Given the description of an element on the screen output the (x, y) to click on. 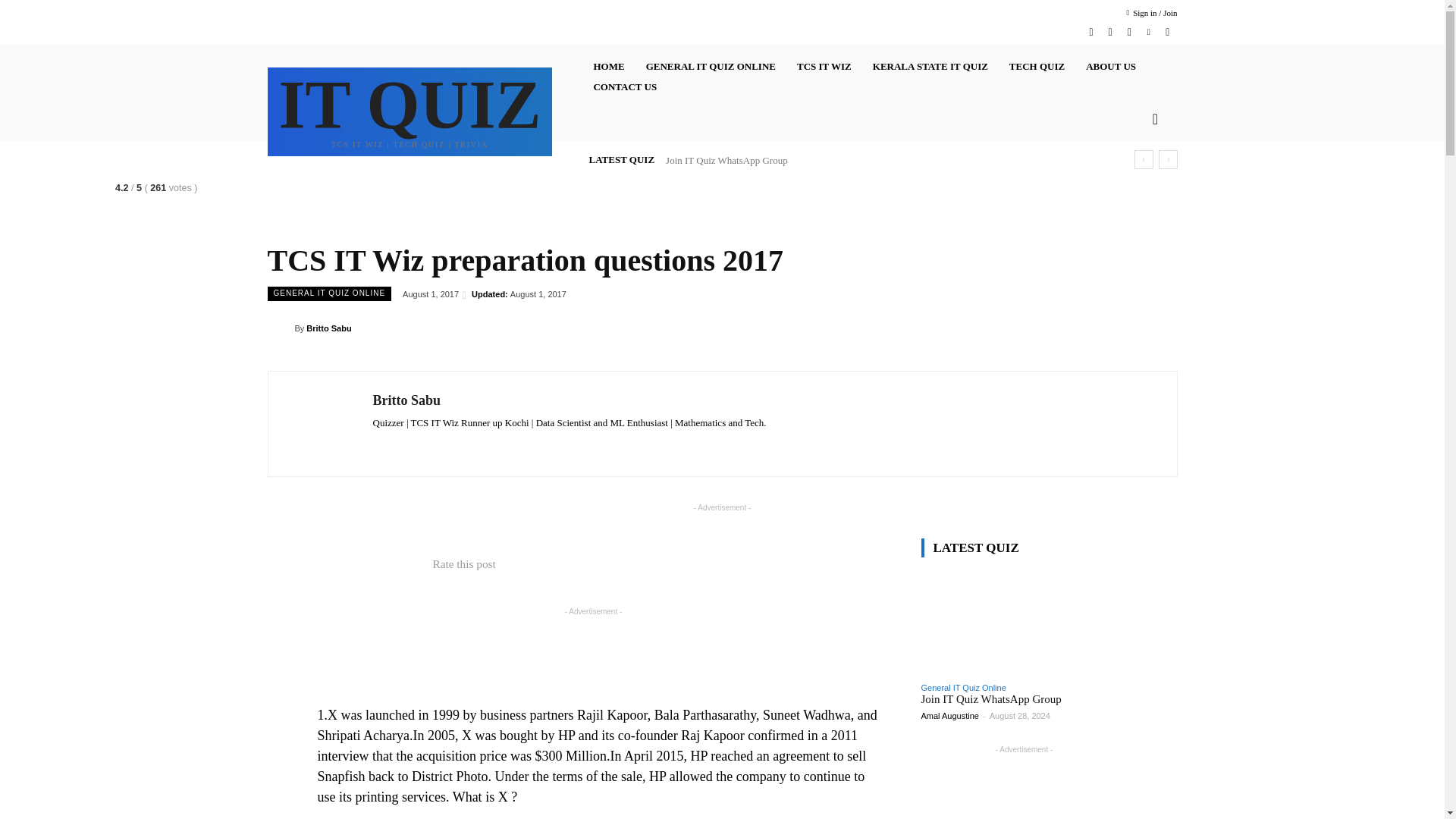
Join IT Quiz WhatsApp Group (990, 698)
Join IT Quiz WhatsApp Group (726, 160)
Join IT Quiz WhatsApp Group (1023, 622)
